Given the description of an element on the screen output the (x, y) to click on. 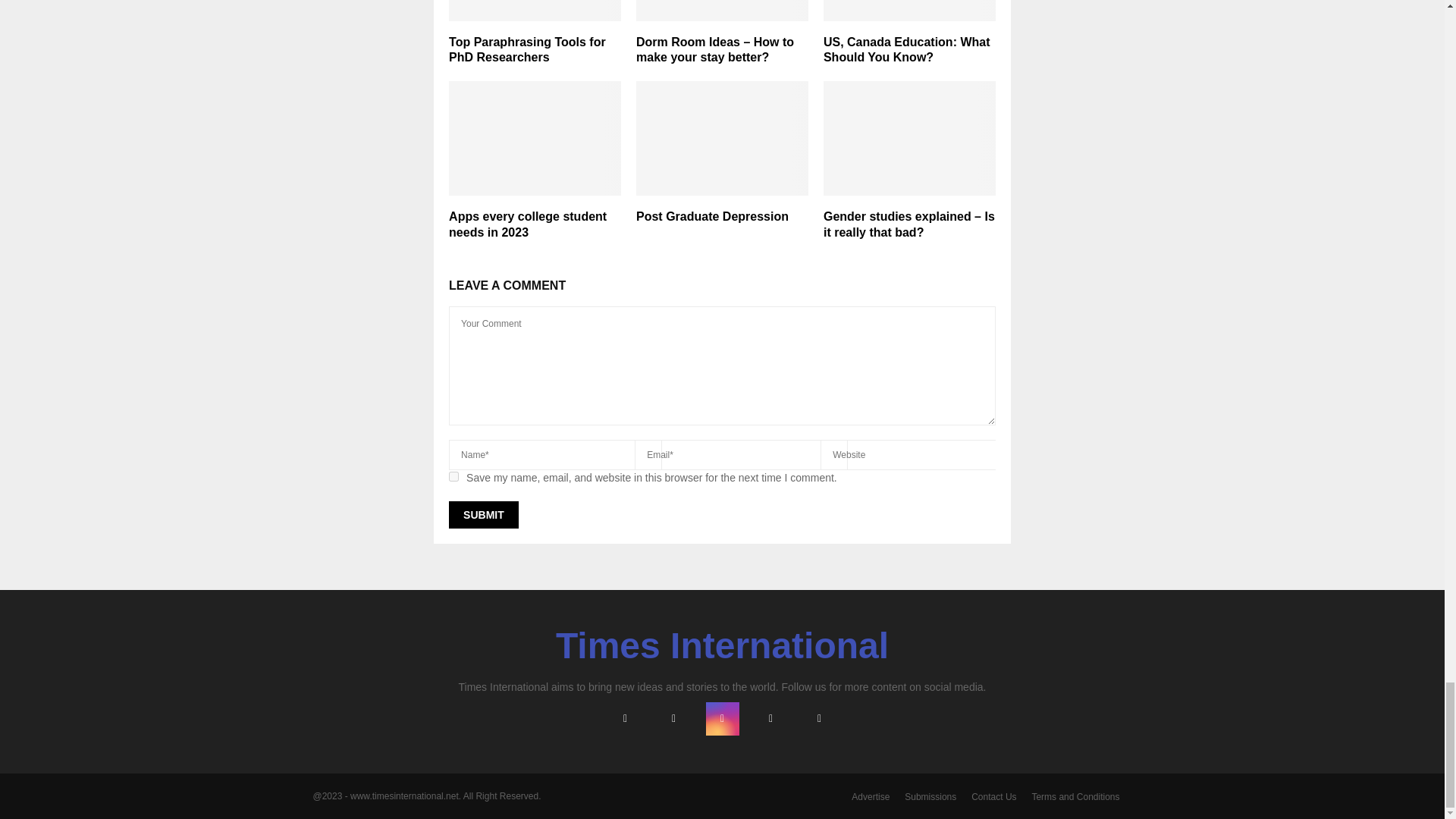
yes (453, 476)
Submit (483, 514)
